Given the description of an element on the screen output the (x, y) to click on. 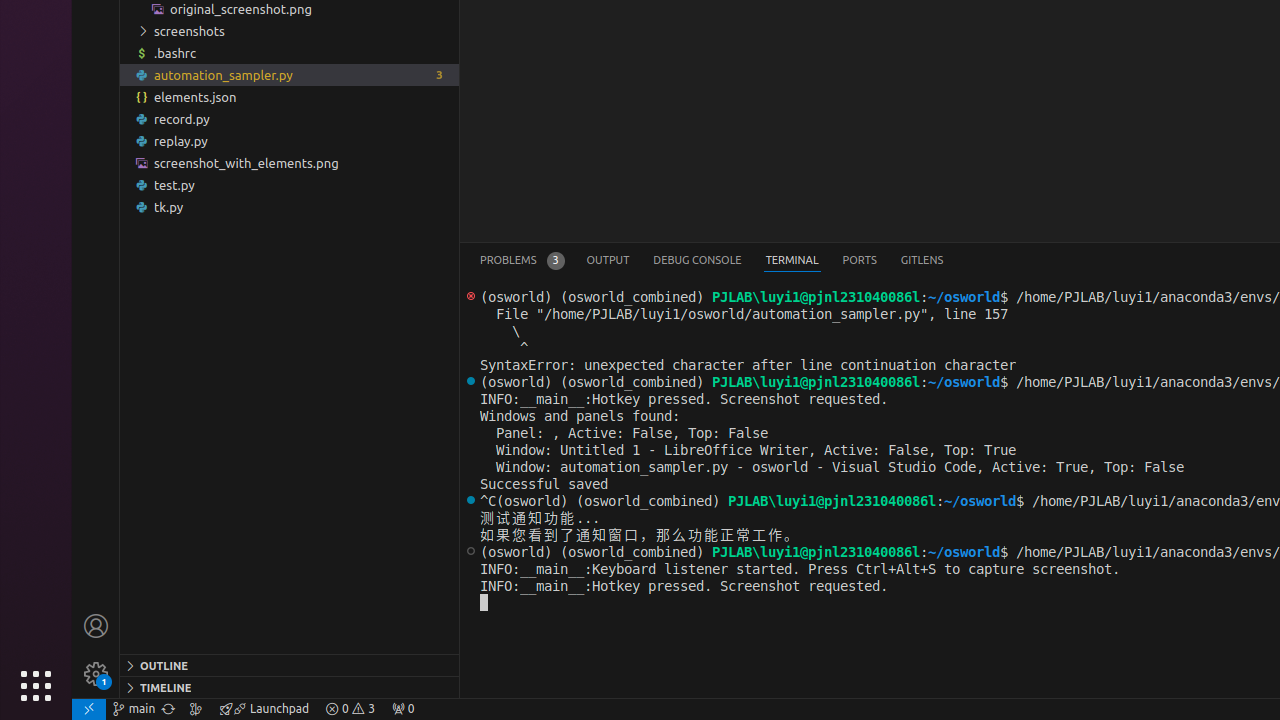
Output (Ctrl+K Ctrl+H) Element type: page-tab (608, 260)
Accounts Element type: push-button (96, 626)
record.py Element type: tree-item (289, 119)
screenshot_with_elements.png Element type: tree-item (289, 163)
.bashrc Element type: tree-item (289, 53)
